Given the description of an element on the screen output the (x, y) to click on. 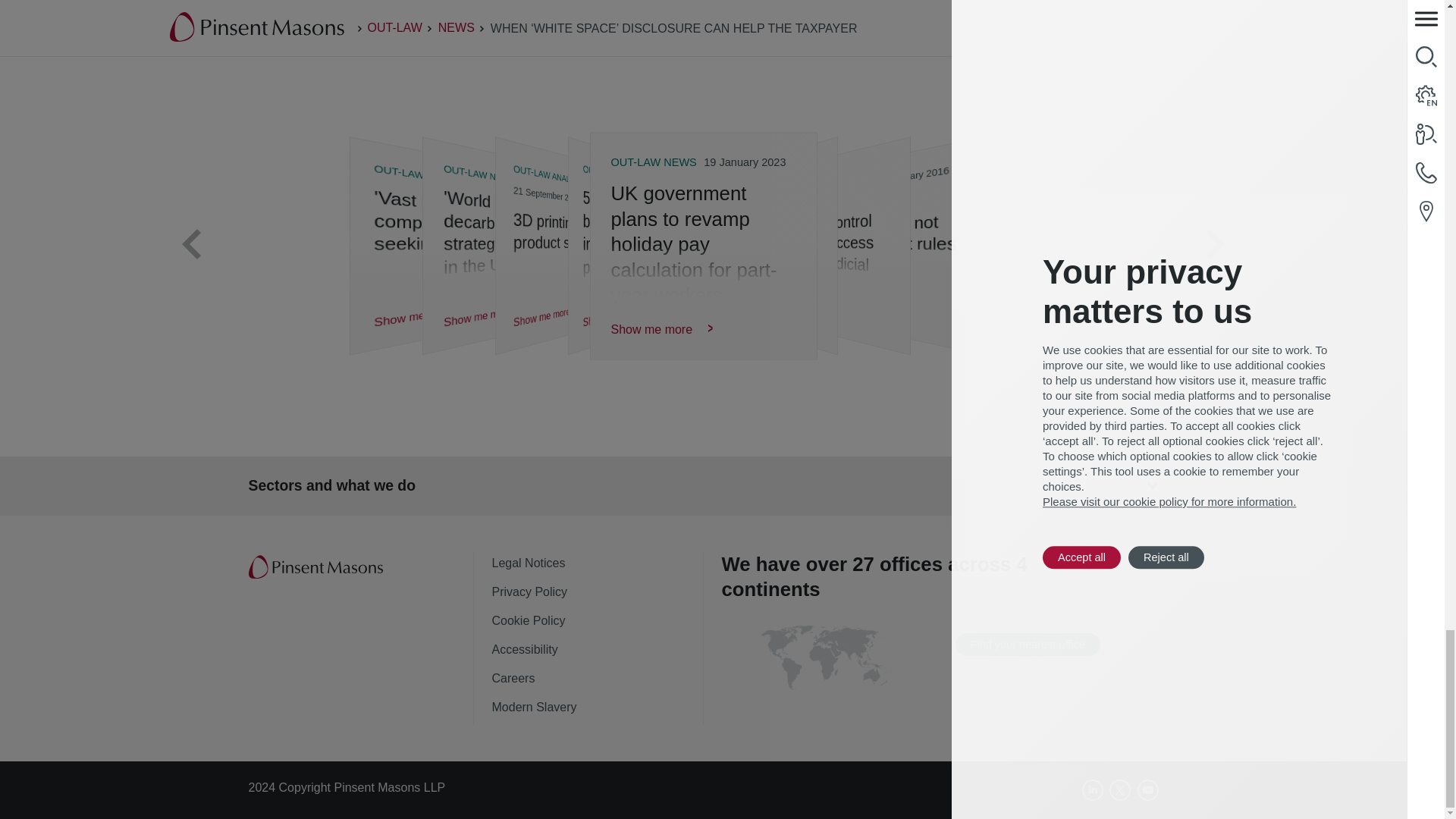
Pinsent Masons LinkedIn (1092, 789)
Pinsent Masons (316, 567)
Pinsent Masons Twitter (1120, 789)
